Given the description of an element on the screen output the (x, y) to click on. 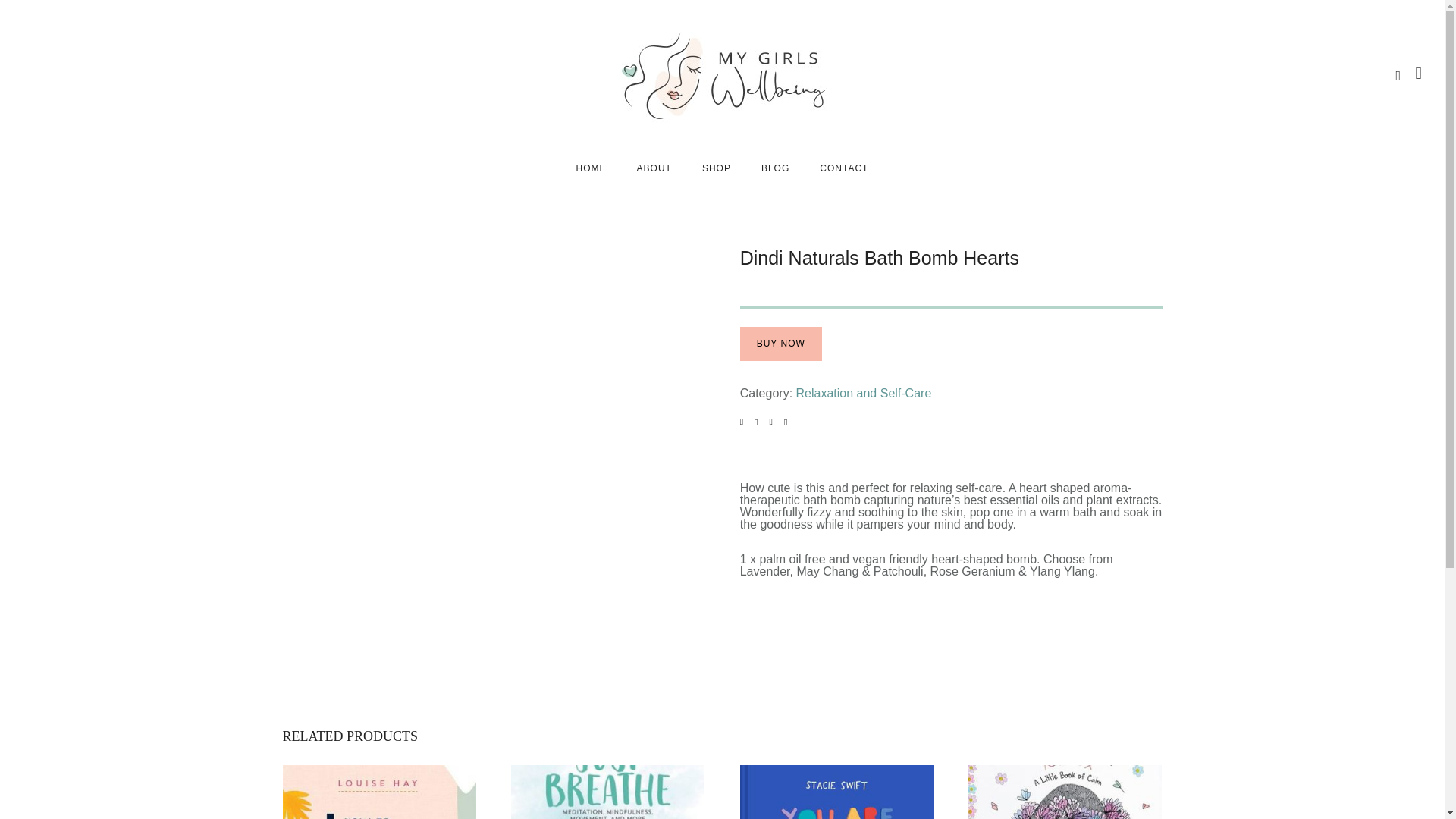
Relaxation and Self-Care (863, 392)
Home (590, 167)
Shop (716, 167)
SHOP (716, 167)
CONTACT (844, 167)
About (654, 167)
BUY NOW (780, 343)
BLOG (775, 167)
ABOUT (654, 167)
HOME (590, 167)
Blog (775, 167)
Contact (844, 167)
